Given the description of an element on the screen output the (x, y) to click on. 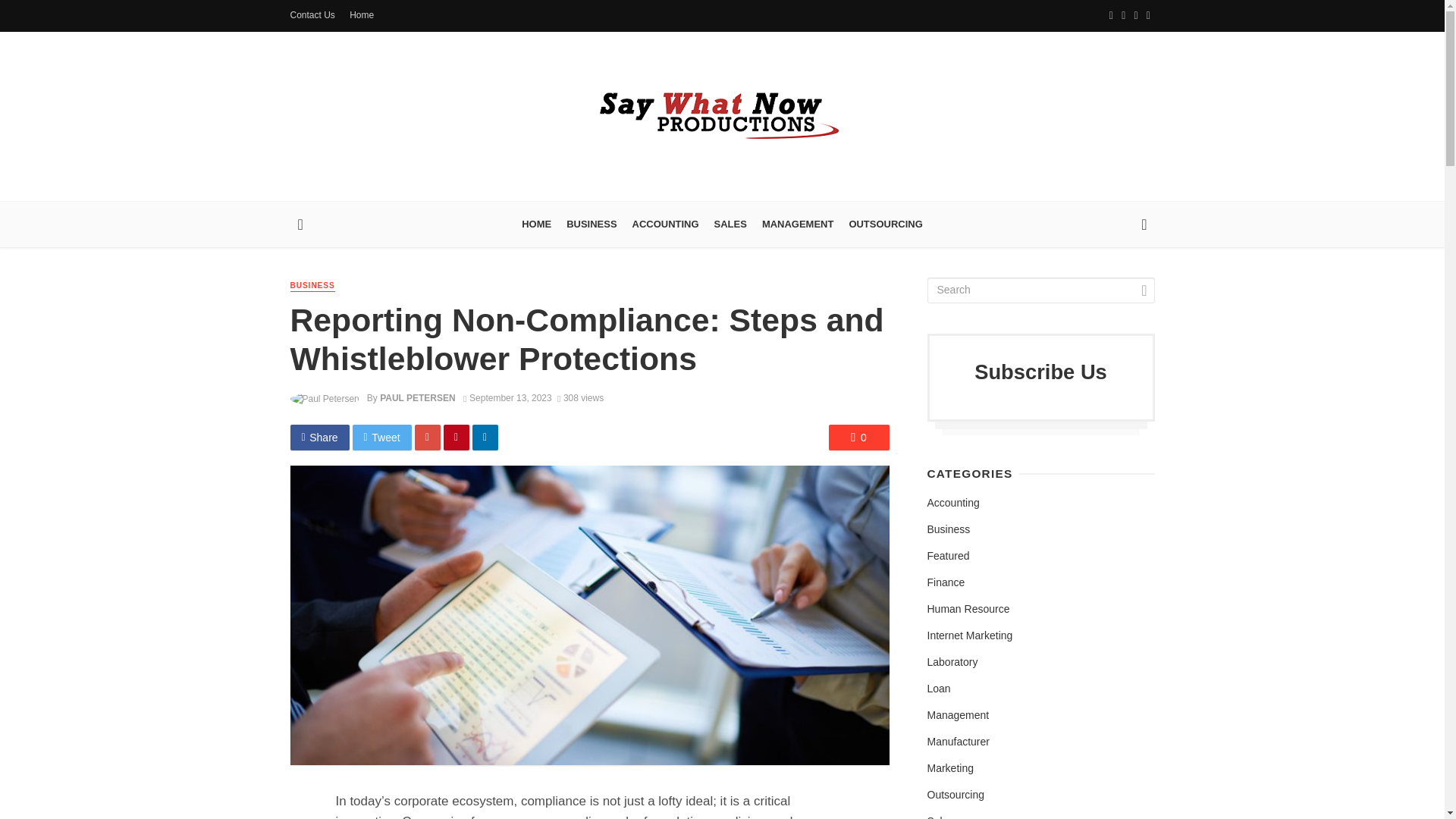
Tweet (382, 437)
0 Comments (858, 437)
Share on Facebook (319, 437)
Share (319, 437)
Share on Linkedin (484, 437)
Contact Us (311, 14)
Home (361, 14)
Posts by Paul Petersen (417, 398)
Share on Pinterest (456, 437)
OUTSOURCING (885, 224)
BUSINESS (591, 224)
BUSINESS (311, 285)
September 13, 2023 at 11:47 am (507, 398)
MANAGEMENT (797, 224)
0 (858, 437)
